Given the description of an element on the screen output the (x, y) to click on. 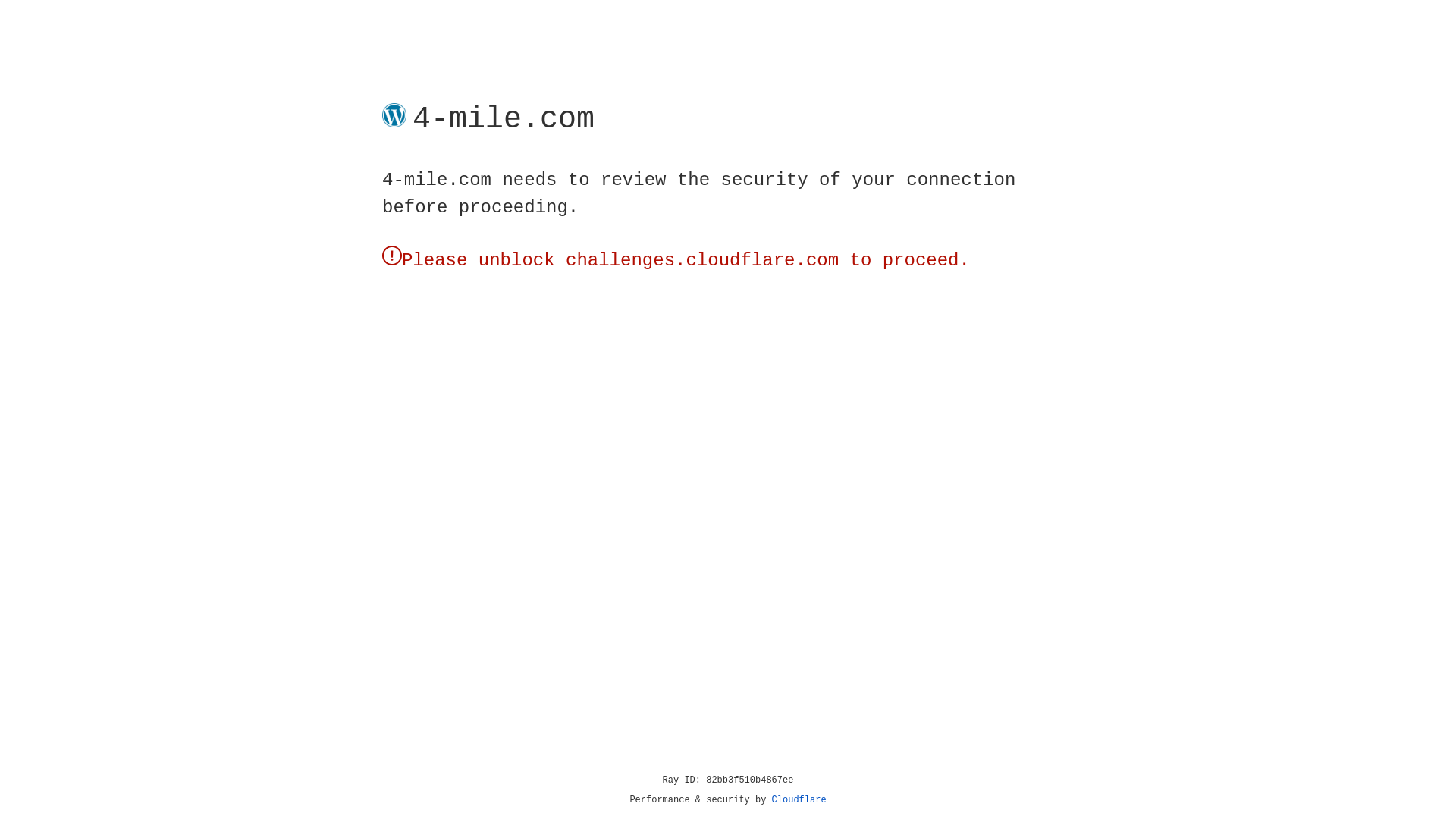
Cloudflare Element type: text (798, 799)
